Given the description of an element on the screen output the (x, y) to click on. 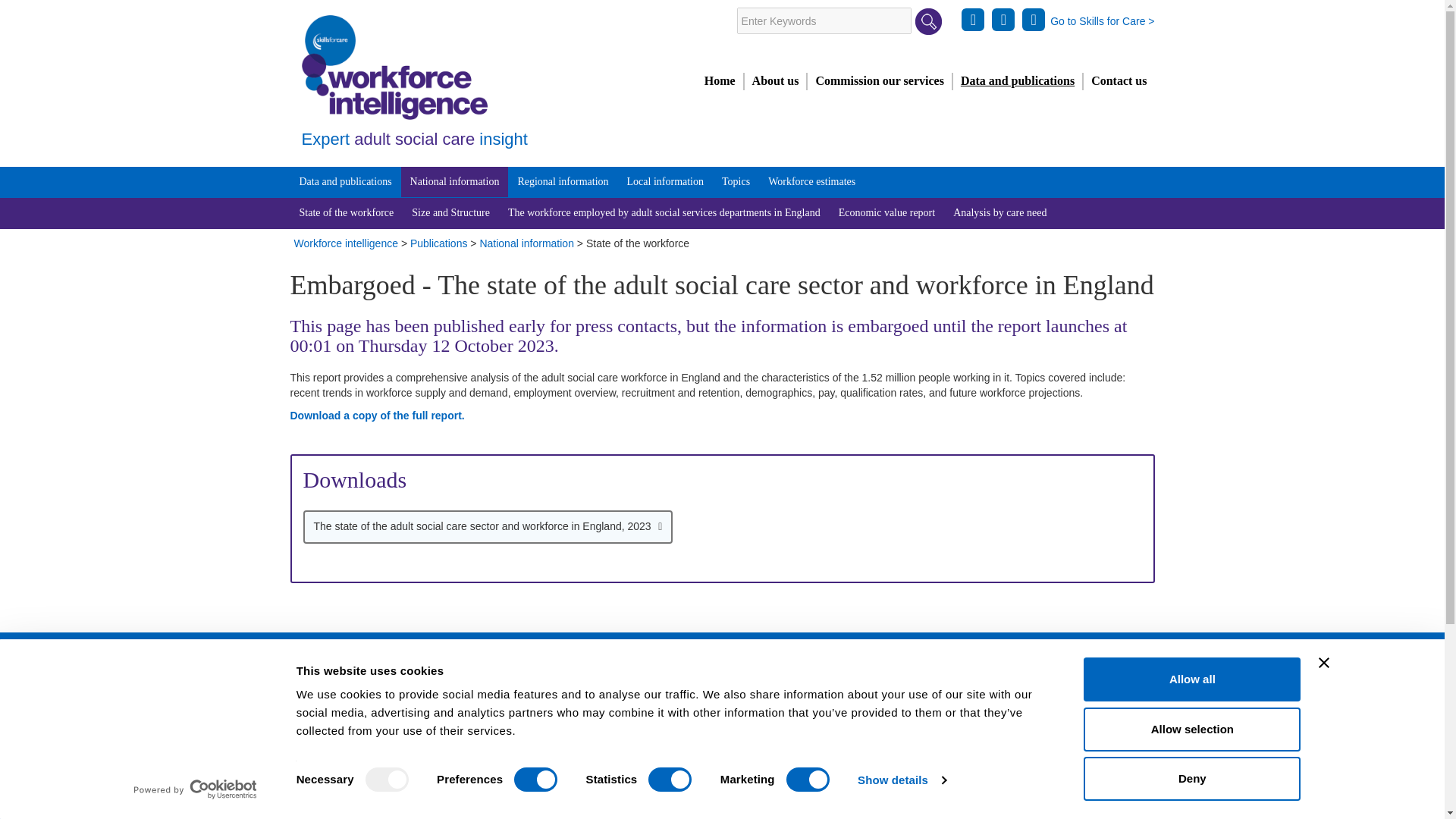
Home (387, 62)
Enter Keywords (823, 20)
Workforce intelligence (719, 80)
Search (928, 21)
Enter Keywords (823, 20)
About us (775, 80)
Search (928, 21)
Show details (900, 780)
Search (928, 21)
